Given the description of an element on the screen output the (x, y) to click on. 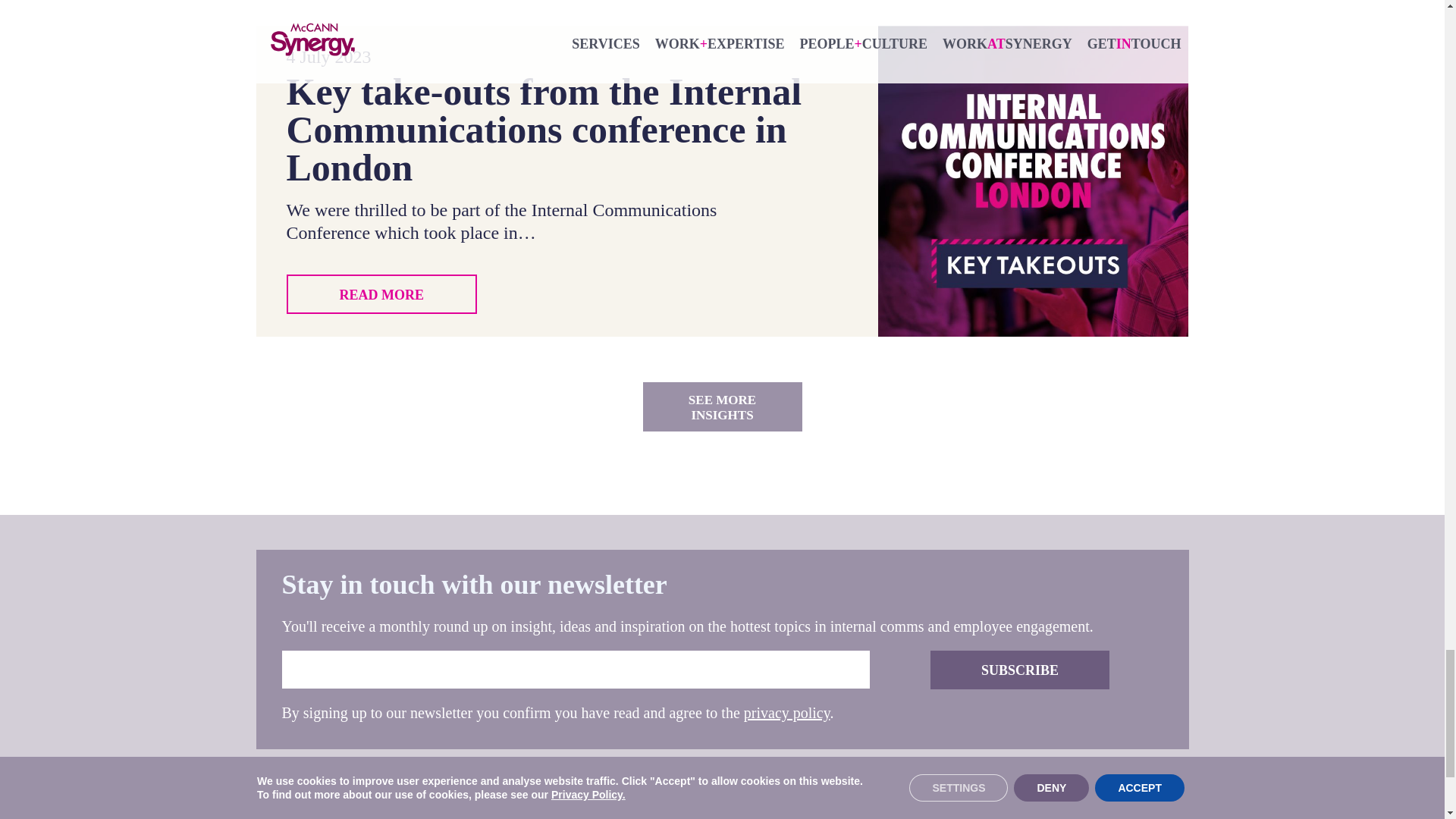
SEE MORE INSIGHTS (722, 406)
Subscribe (1019, 669)
READ MORE (381, 293)
privacy policy (786, 712)
Subscribe (1019, 669)
